Given the description of an element on the screen output the (x, y) to click on. 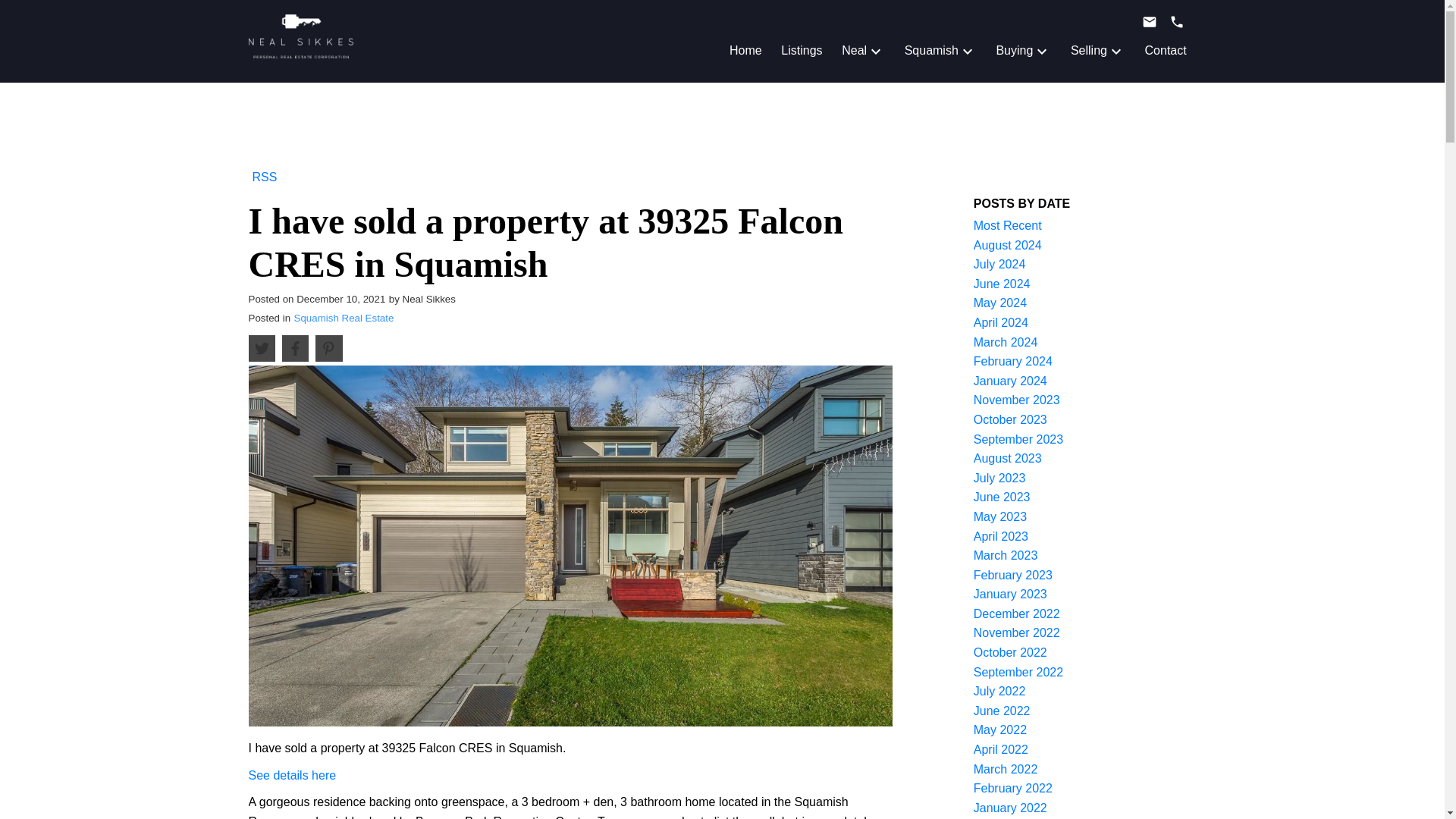
Contact (1165, 50)
January 2024 (1010, 380)
October 2023 (1010, 419)
Most Recent (1008, 225)
RSS (264, 175)
May 2024 (1000, 302)
November 2023 (1016, 399)
Listings (801, 50)
June 2024 (1002, 283)
April 2024 (1000, 322)
